Given the description of an element on the screen output the (x, y) to click on. 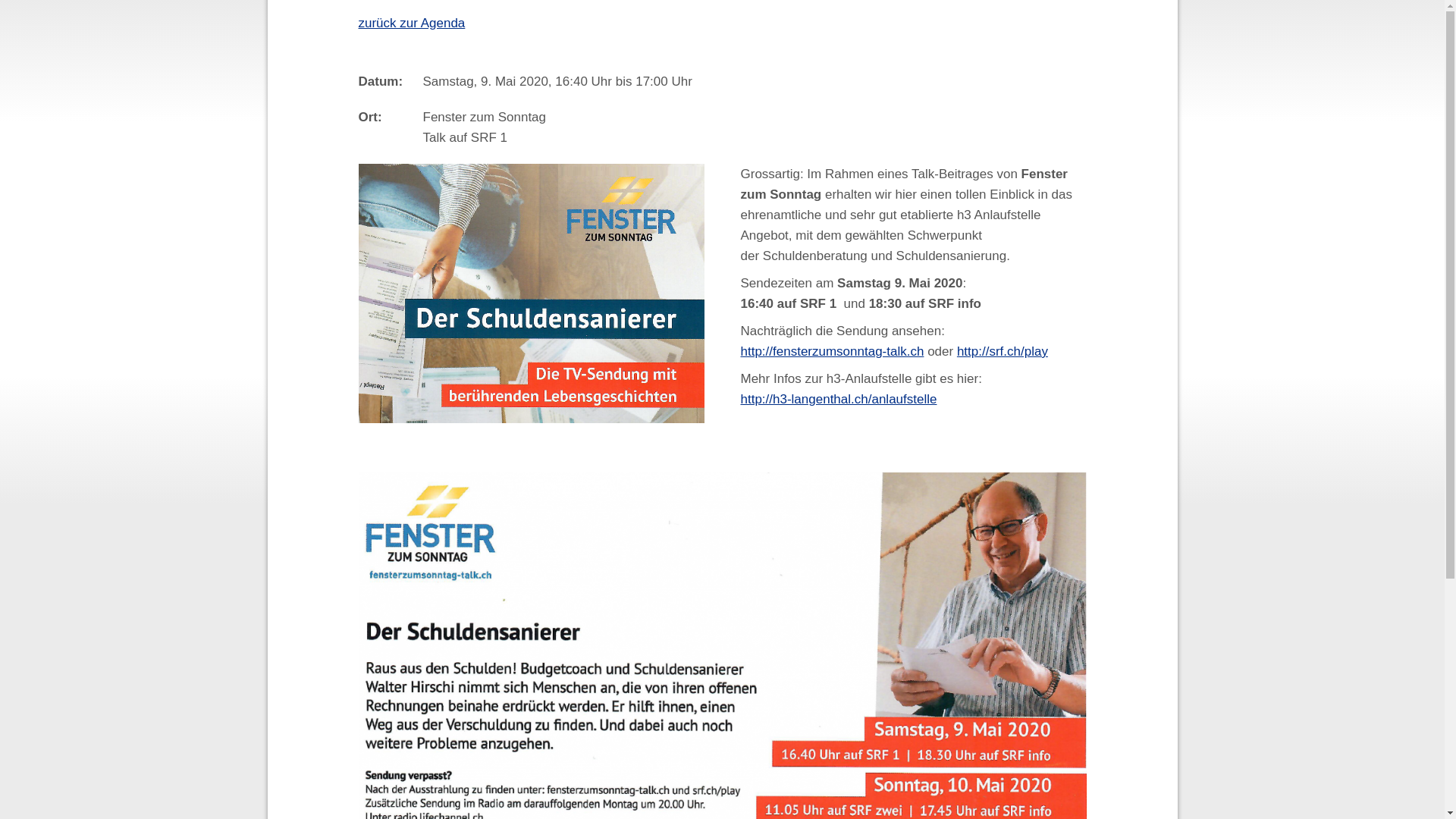
http://h3-langenthal.ch/anlaufstelle Element type: text (838, 399)
http://fensterzumsonntag-talk.ch Element type: text (831, 351)
http://srf.ch/play Element type: text (1002, 351)
Startseite Element type: hover (272, 25)
